Given the description of an element on the screen output the (x, y) to click on. 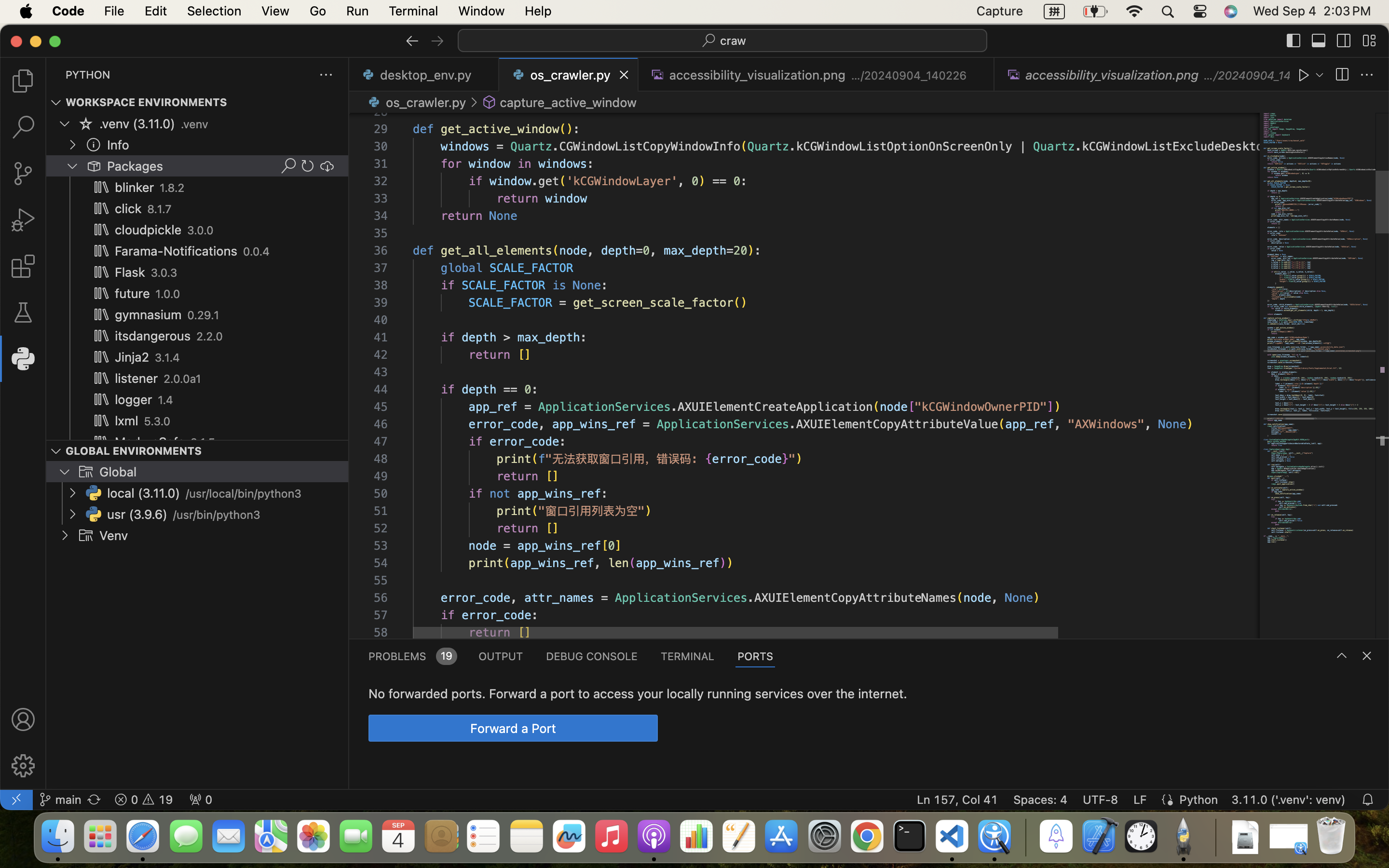
0 PROBLEMS 19 Element type: AXRadioButton (411, 655)
3.0.0 Element type: AXStaticText (200, 230)
 Element type: AXCheckBox (1293, 40)
GLOBAL ENVIRONMENTS Element type: AXStaticText (133, 450)
main  Element type: AXButton (59, 799)
